Given the description of an element on the screen output the (x, y) to click on. 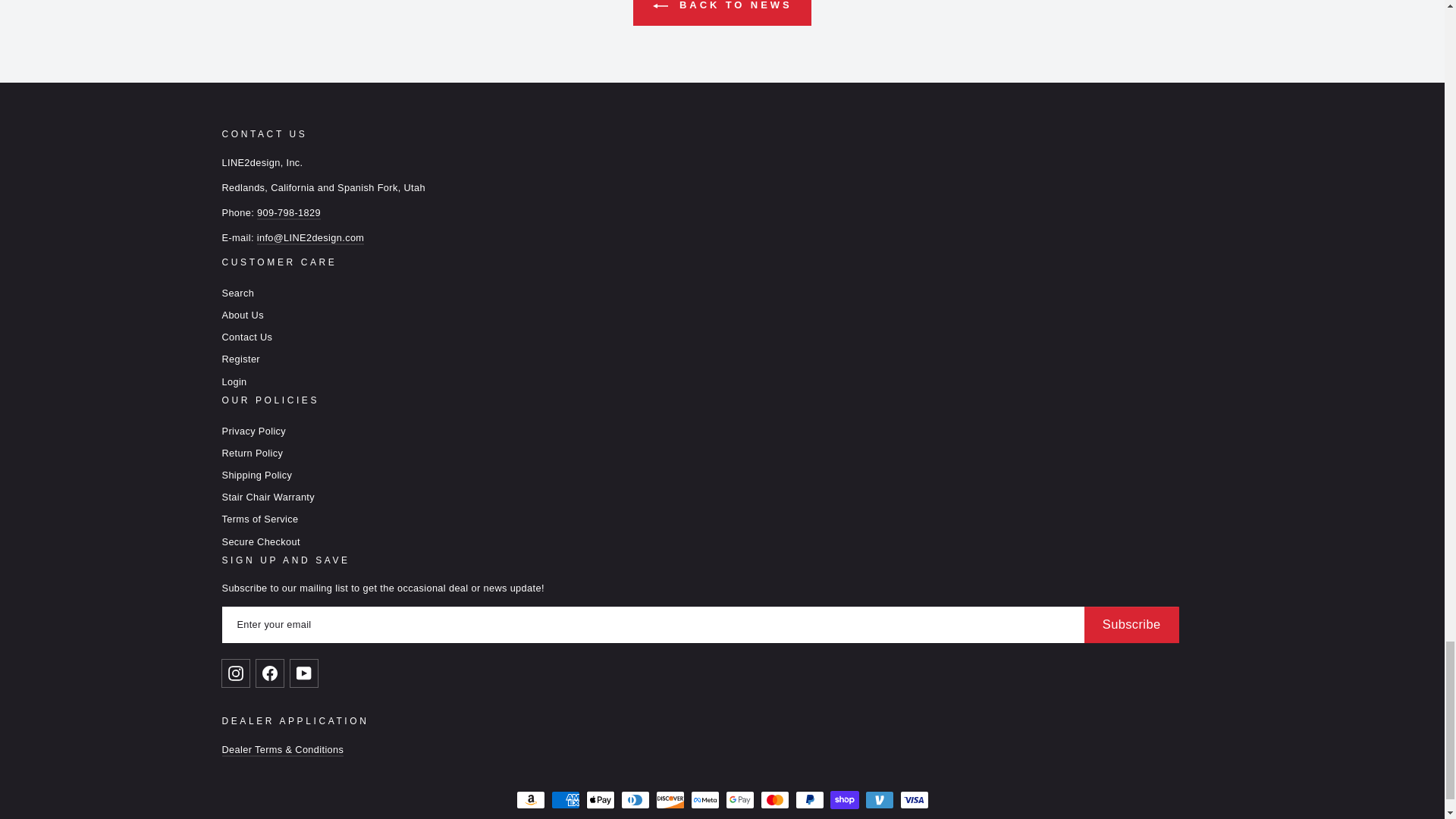
American Express (564, 800)
LINE2EMS  on Facebook (273, 672)
Diners Club (634, 800)
Google Pay (739, 800)
Meta Pay (704, 800)
tel:909-798-1829 (288, 213)
instagram (235, 672)
Apple Pay (599, 800)
LINE2EMS  on Instagram (238, 672)
Amazon (529, 800)
